Given the description of an element on the screen output the (x, y) to click on. 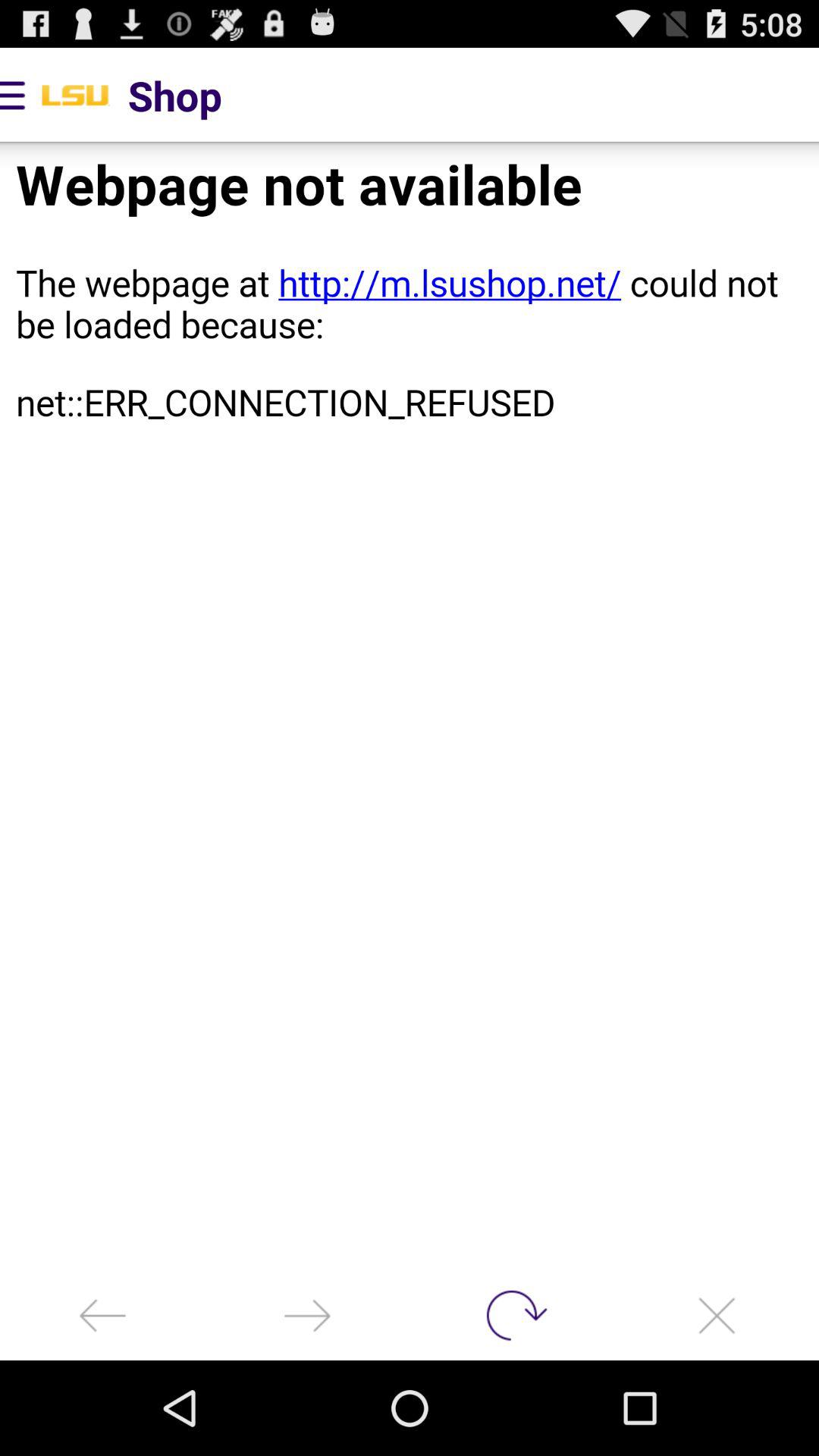
refresh page (511, 1315)
